Given the description of an element on the screen output the (x, y) to click on. 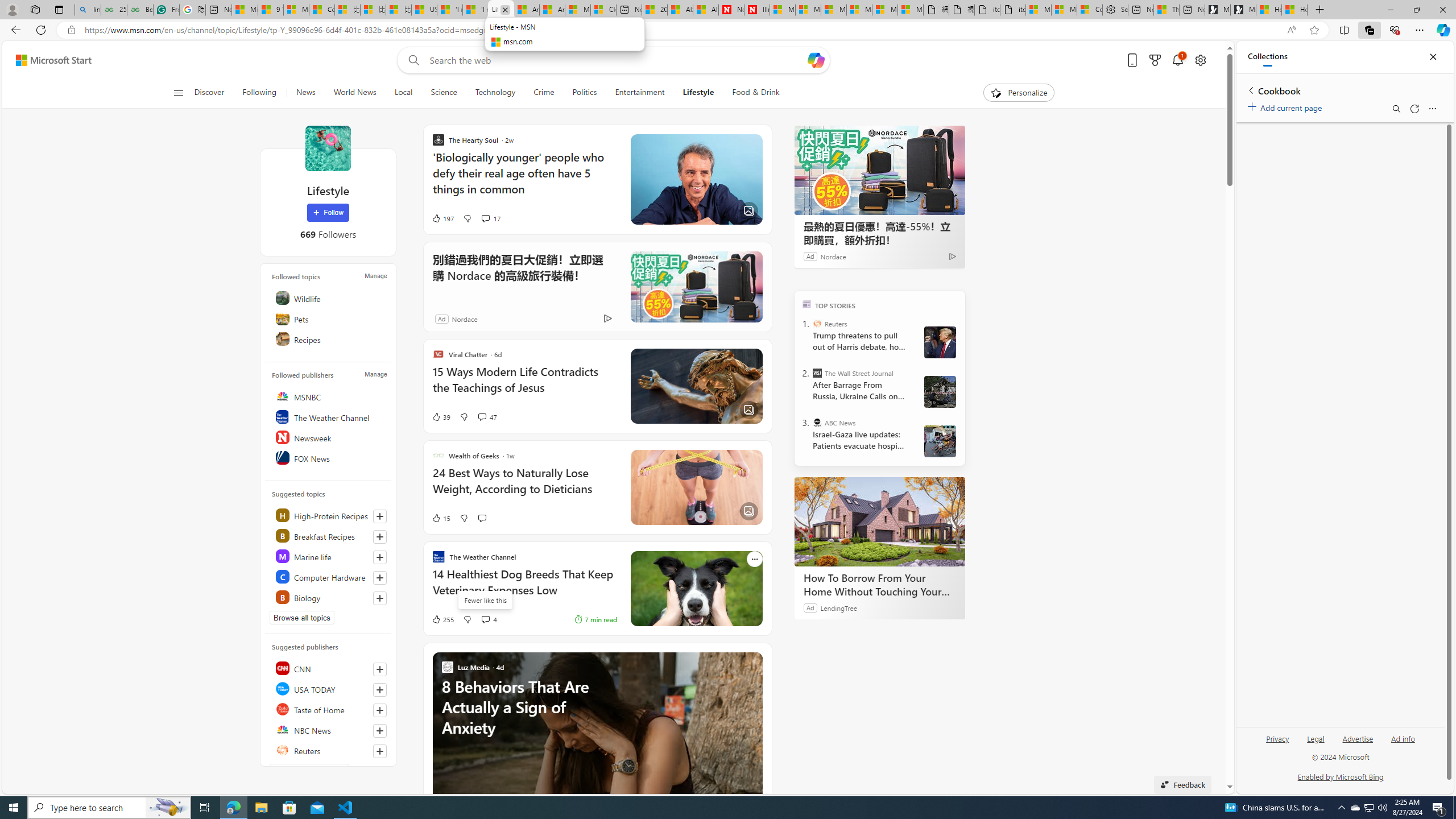
CNN (328, 668)
Microsoft rewards (1154, 60)
View comments 17 Comment (490, 218)
Notifications (1177, 60)
How to Use a TV as a Computer Monitor (1293, 9)
Illness news & latest pictures from Newsweek.com (756, 9)
15 Like (440, 517)
14 Healthiest Dog Breeds That Keep Veterinary Expenses Low (524, 587)
Open navigation menu (177, 92)
